Given the description of an element on the screen output the (x, y) to click on. 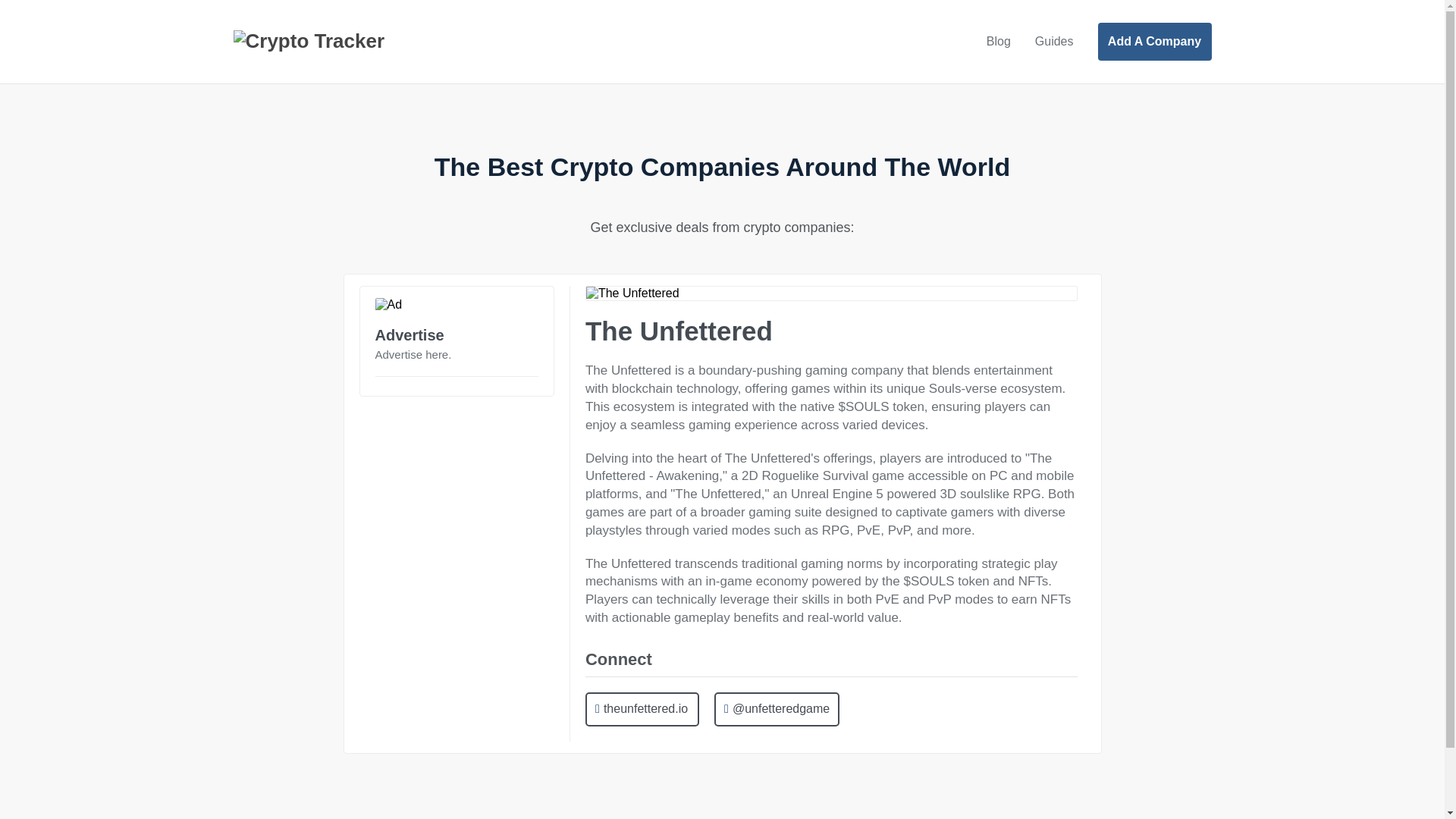
Blog (998, 41)
Add A Company (1154, 41)
Advertise (409, 334)
theunfettered.io (641, 709)
Guides (1054, 41)
